Given the description of an element on the screen output the (x, y) to click on. 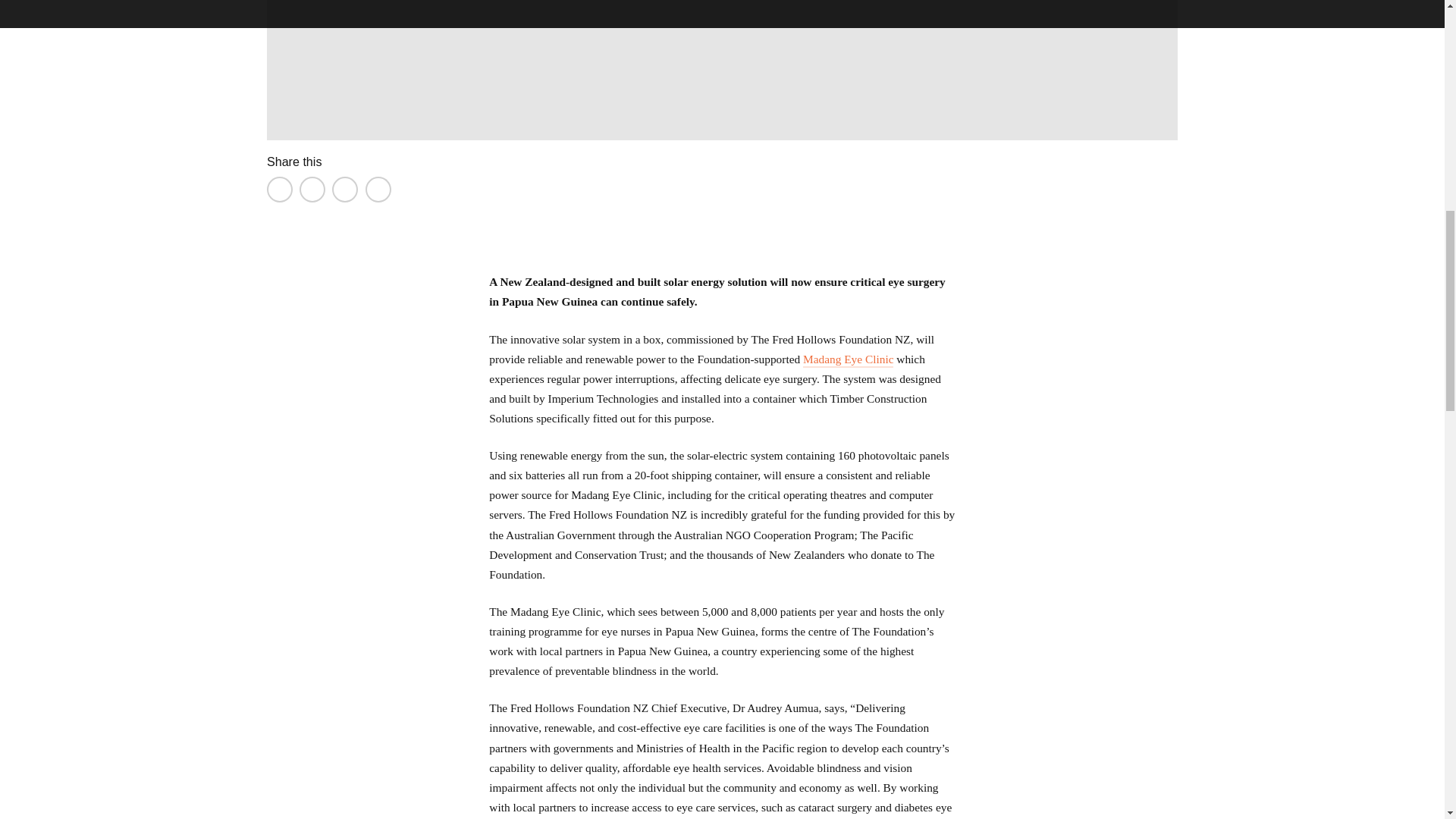
Share on Facebook (279, 189)
Share on Twitter (311, 189)
Email this article (344, 189)
Copy this article's URL (378, 189)
